Given the description of an element on the screen output the (x, y) to click on. 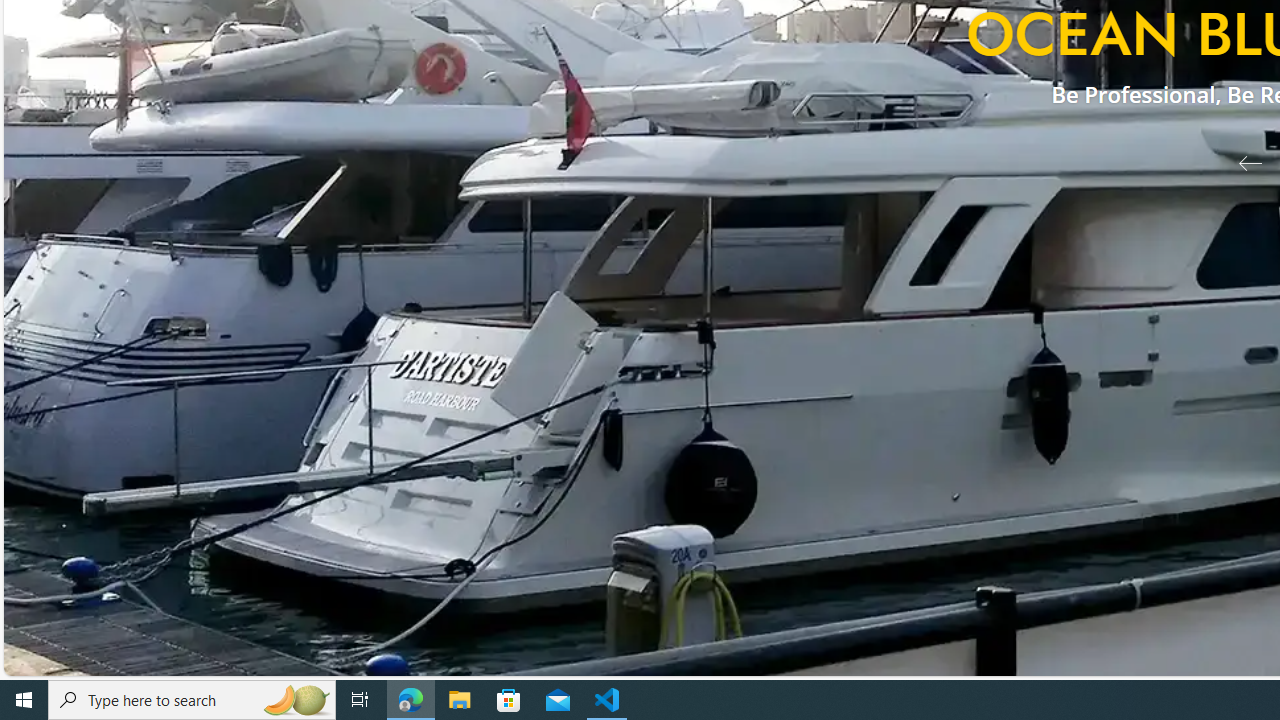
Previous Slide (1242, 161)
